Given the description of an element on the screen output the (x, y) to click on. 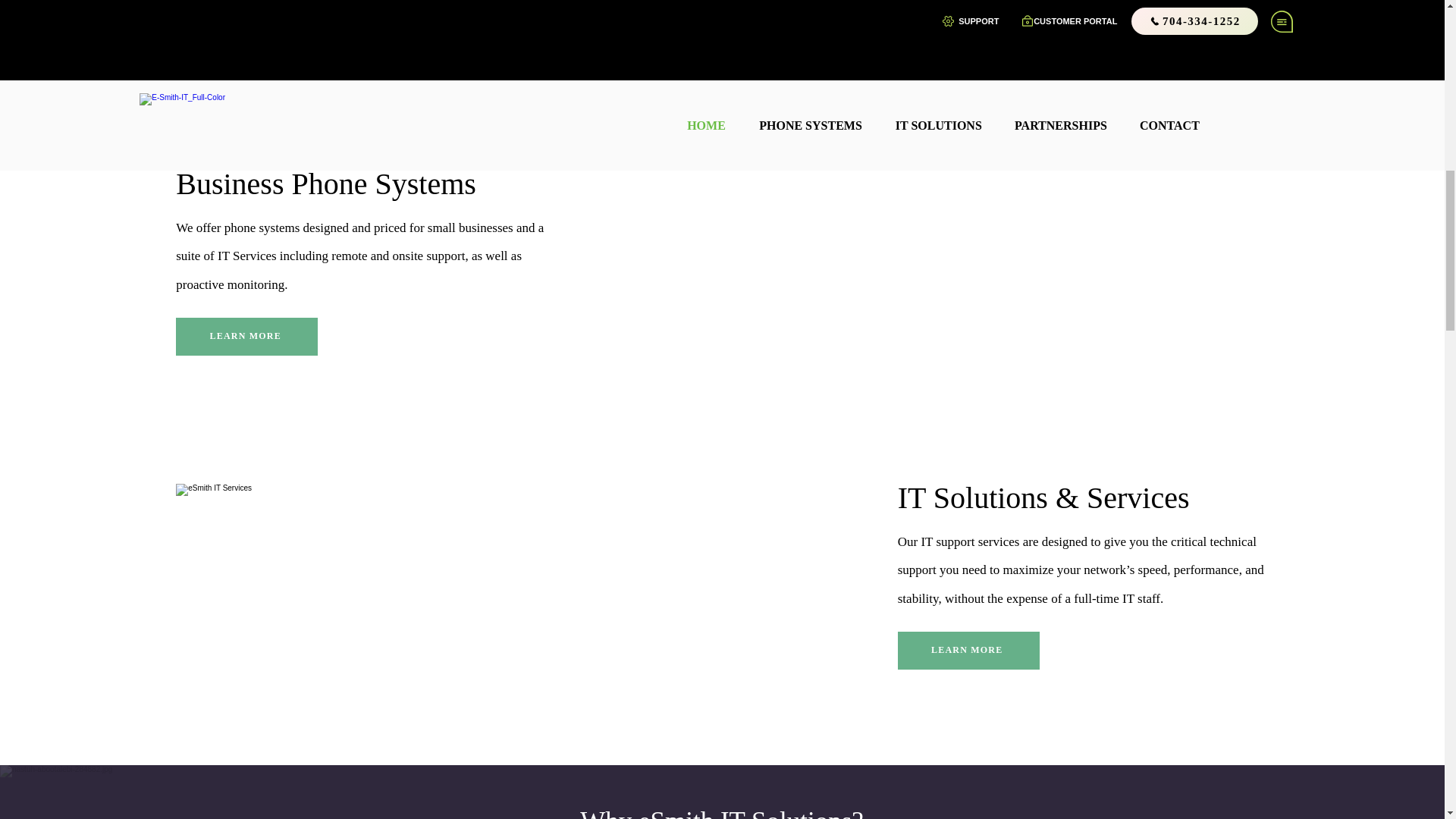
Huntersville (760, 57)
LEARN MORE (968, 650)
LEARN MORE (246, 336)
Charlotte NC. (869, 57)
